Given the description of an element on the screen output the (x, y) to click on. 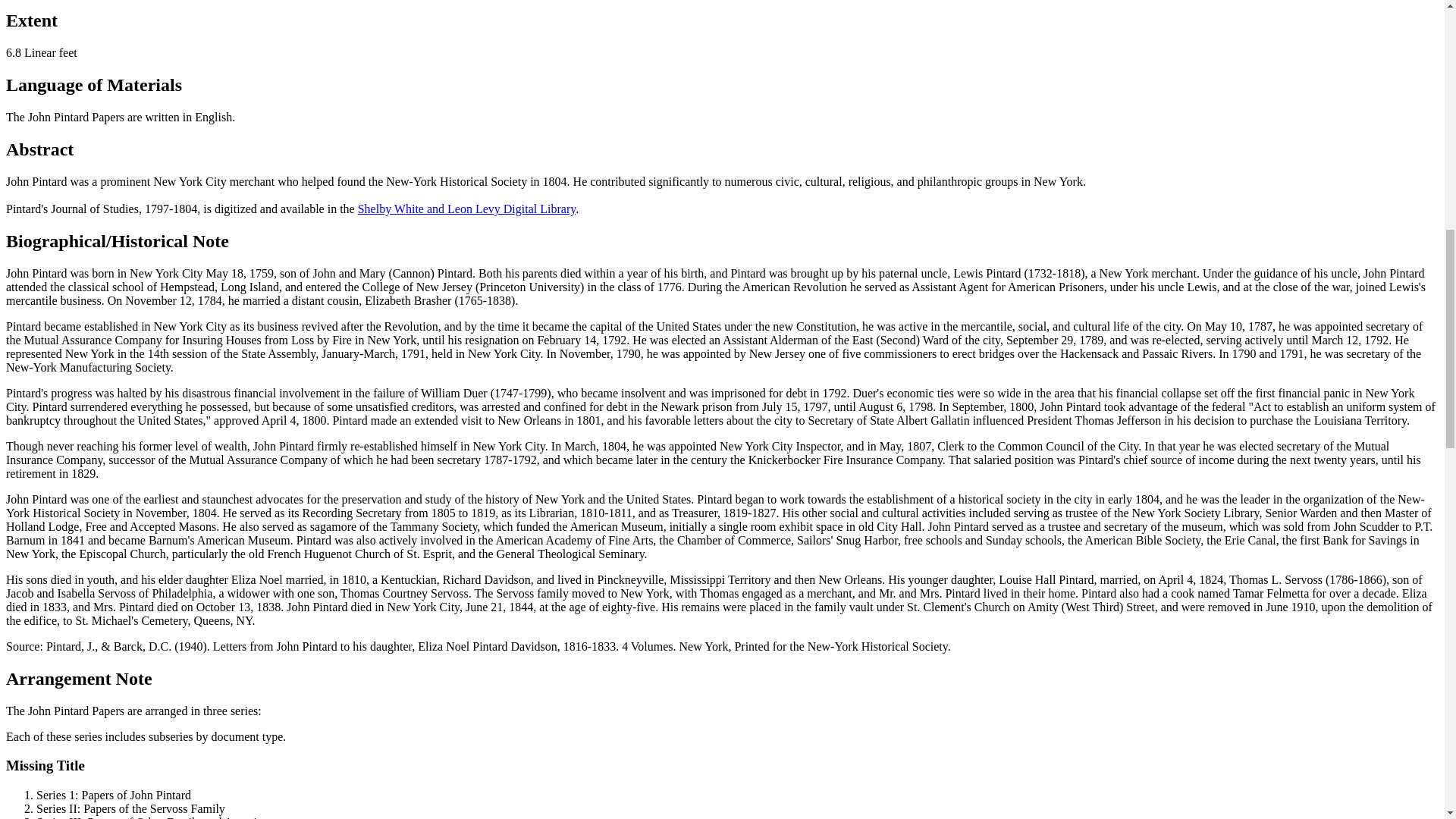
Shelby White and Leon Levy Digital Library (466, 208)
